Given the description of an element on the screen output the (x, y) to click on. 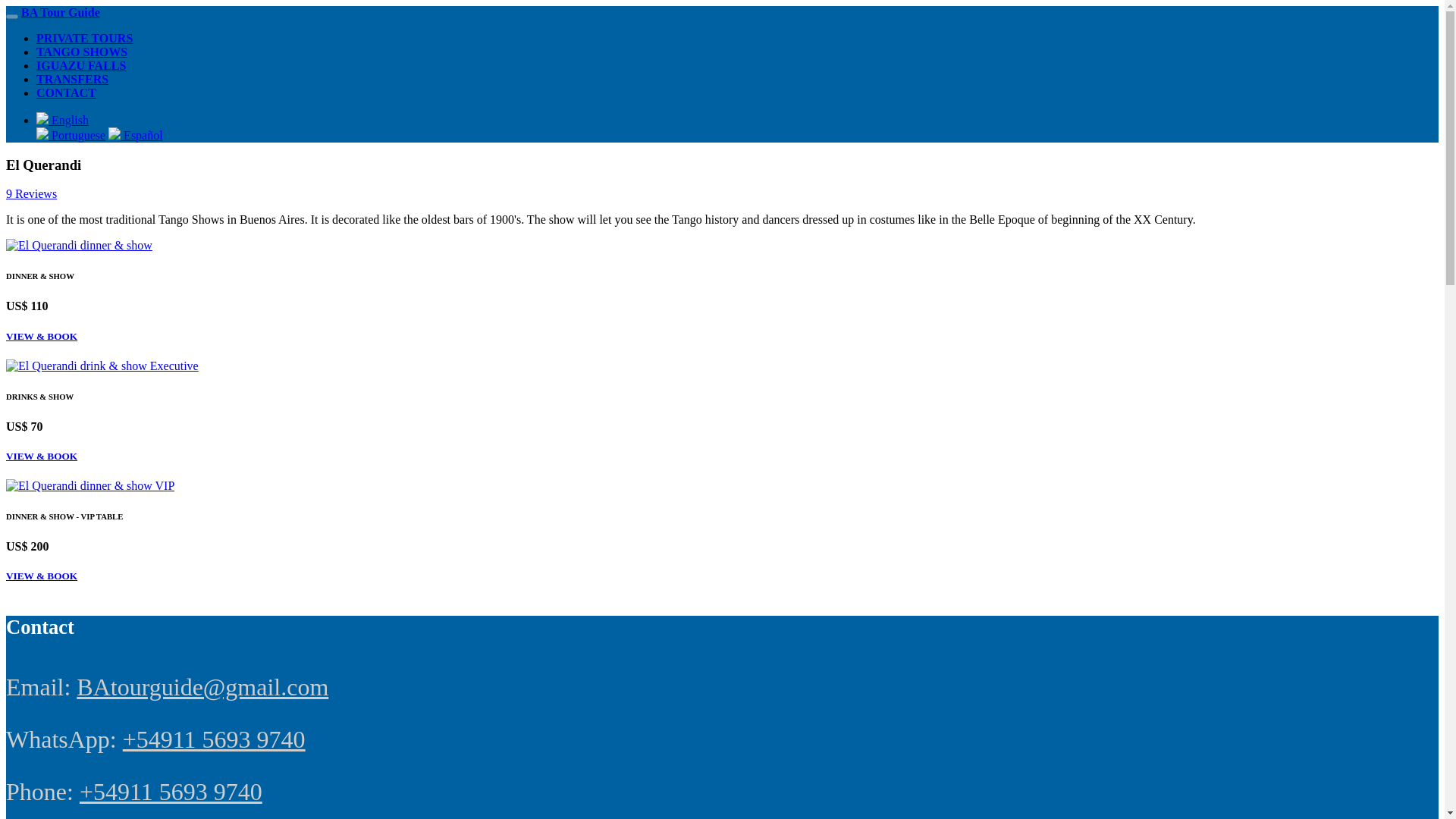
9 Reviews (30, 193)
BA Tour Guide (60, 11)
PRIVATE TOURS (84, 38)
IGUAZU FALLS (80, 65)
TRANSFERS (71, 78)
Portuguese (70, 134)
TANGO SHOWS (82, 51)
CONTACT (66, 92)
English (62, 119)
